Given the description of an element on the screen output the (x, y) to click on. 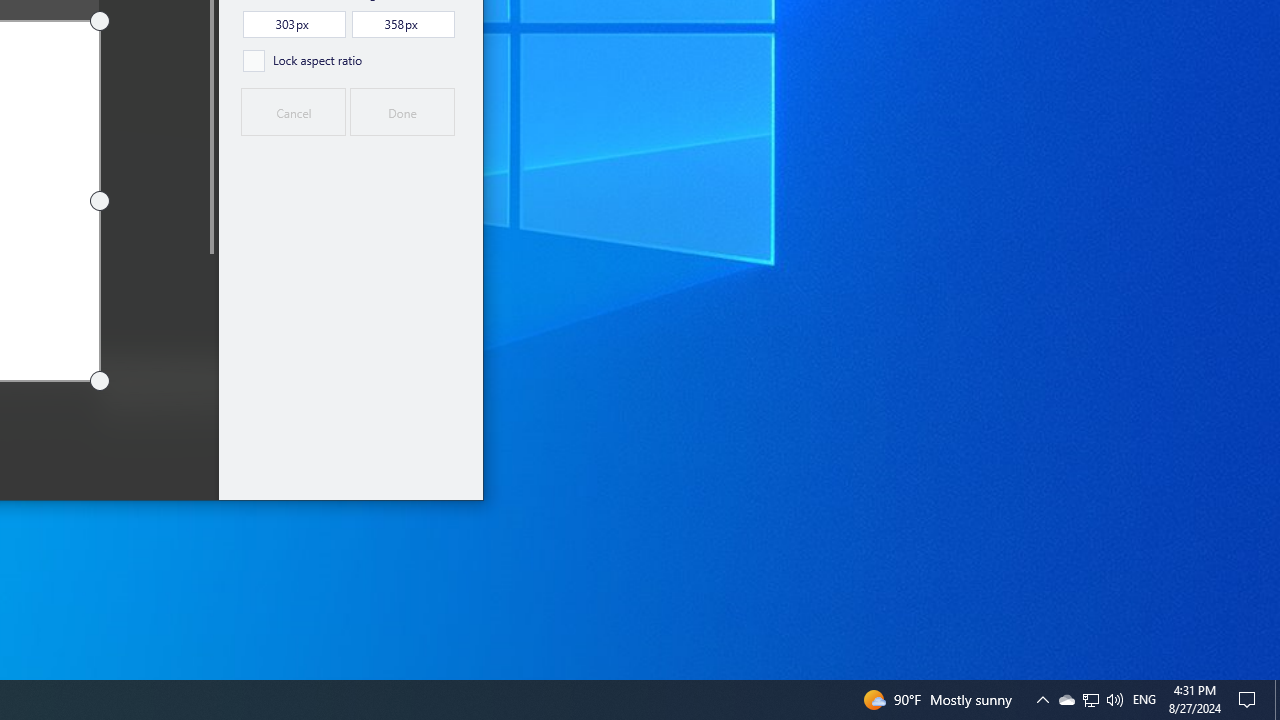
Cancel (292, 111)
Height,, pixels (403, 24)
Width,, pixels (294, 24)
Vertical Large Increase (210, 369)
Done (401, 111)
Lock aspect ratio (302, 60)
Tray Input Indicator - English (United States) (1144, 699)
